Given the description of an element on the screen output the (x, y) to click on. 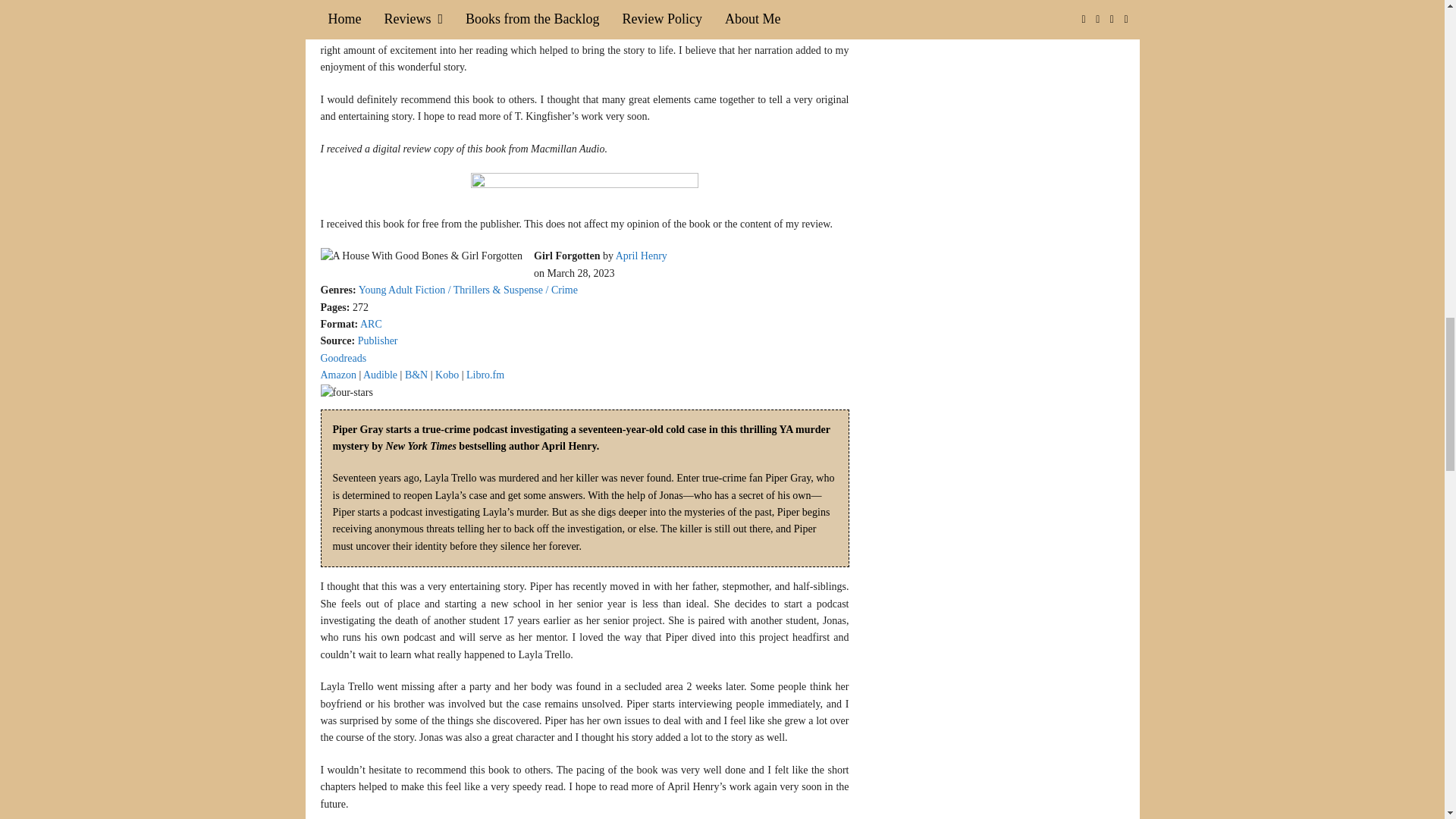
April Henry (640, 255)
ARC (370, 324)
Kobo (446, 374)
Publisher (377, 340)
Audible (379, 374)
Goodreads (343, 357)
Amazon (337, 374)
